Given the description of an element on the screen output the (x, y) to click on. 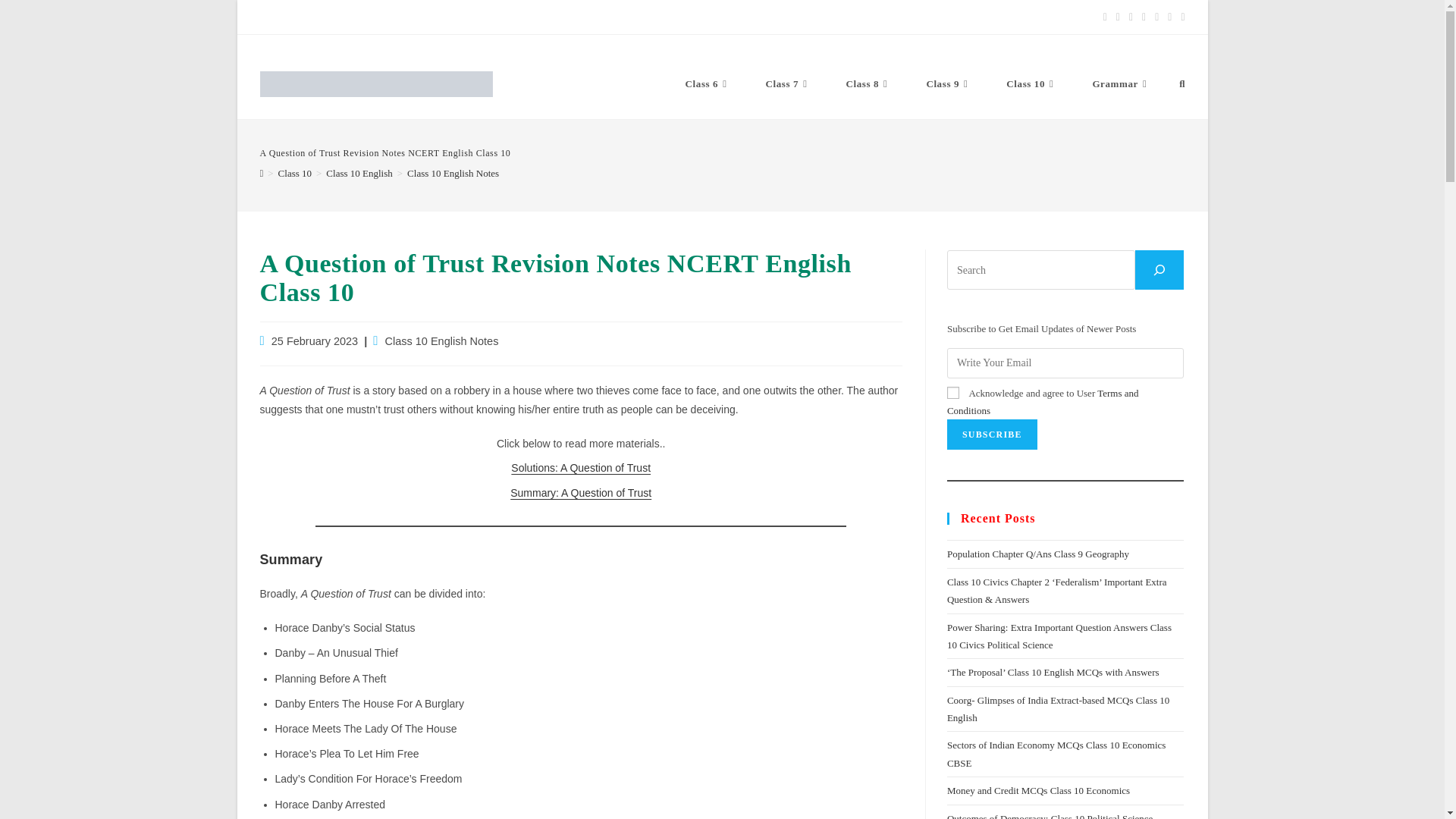
Class 10 (1031, 84)
Class 6 (708, 84)
Syllabus 2024-25 (299, 16)
CBSE SQP (381, 16)
Subscribe (991, 434)
Request Answers (465, 16)
Class 9 (948, 84)
true (953, 392)
Class 7 (788, 84)
Class 8 (868, 84)
